Given the description of an element on the screen output the (x, y) to click on. 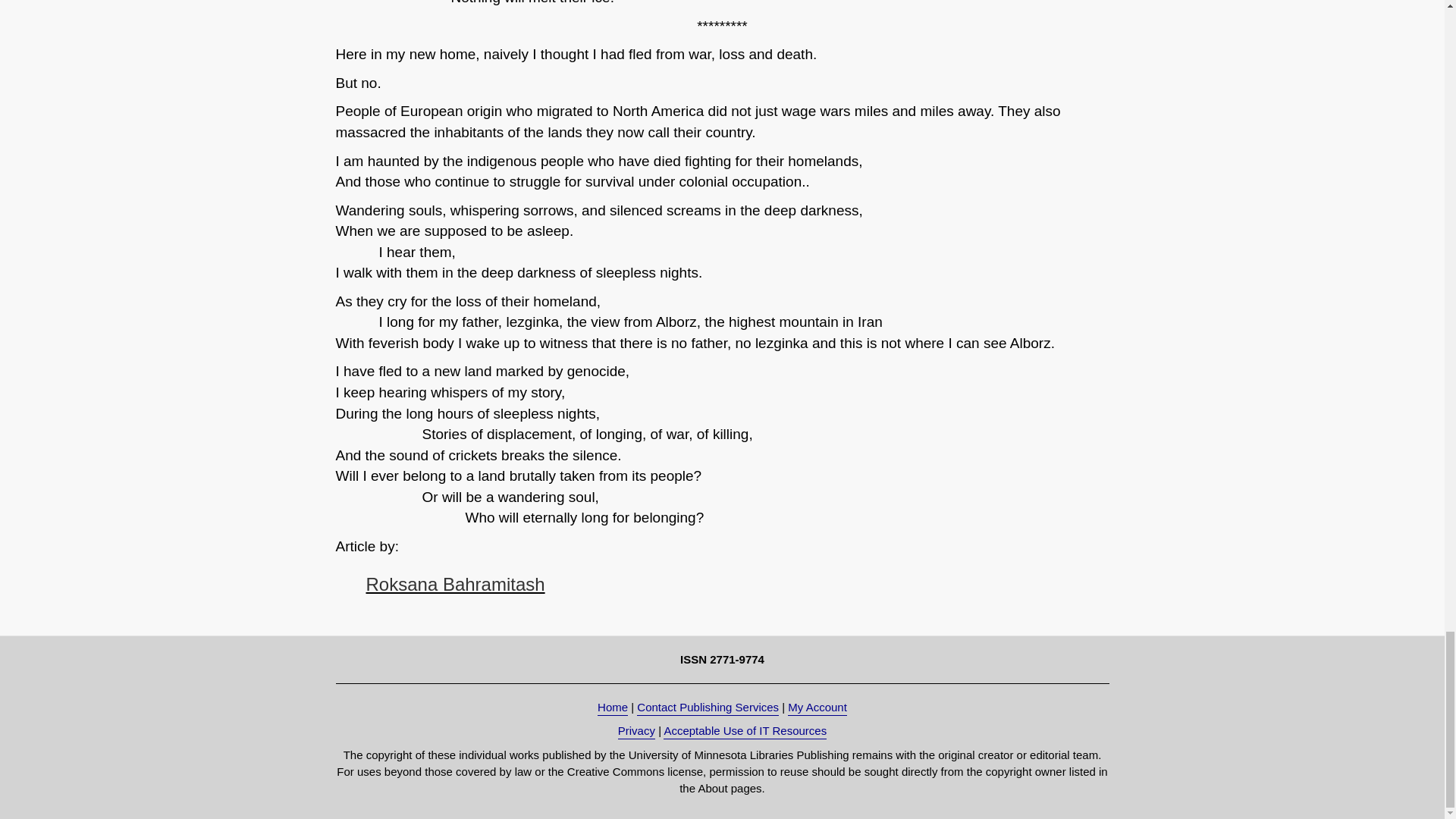
My Account (817, 708)
Acceptable Use of IT Resources (745, 731)
Roksana Bahramitash (454, 584)
Privacy (636, 731)
Home (611, 708)
Contact Publishing Services (707, 708)
